Given the description of an element on the screen output the (x, y) to click on. 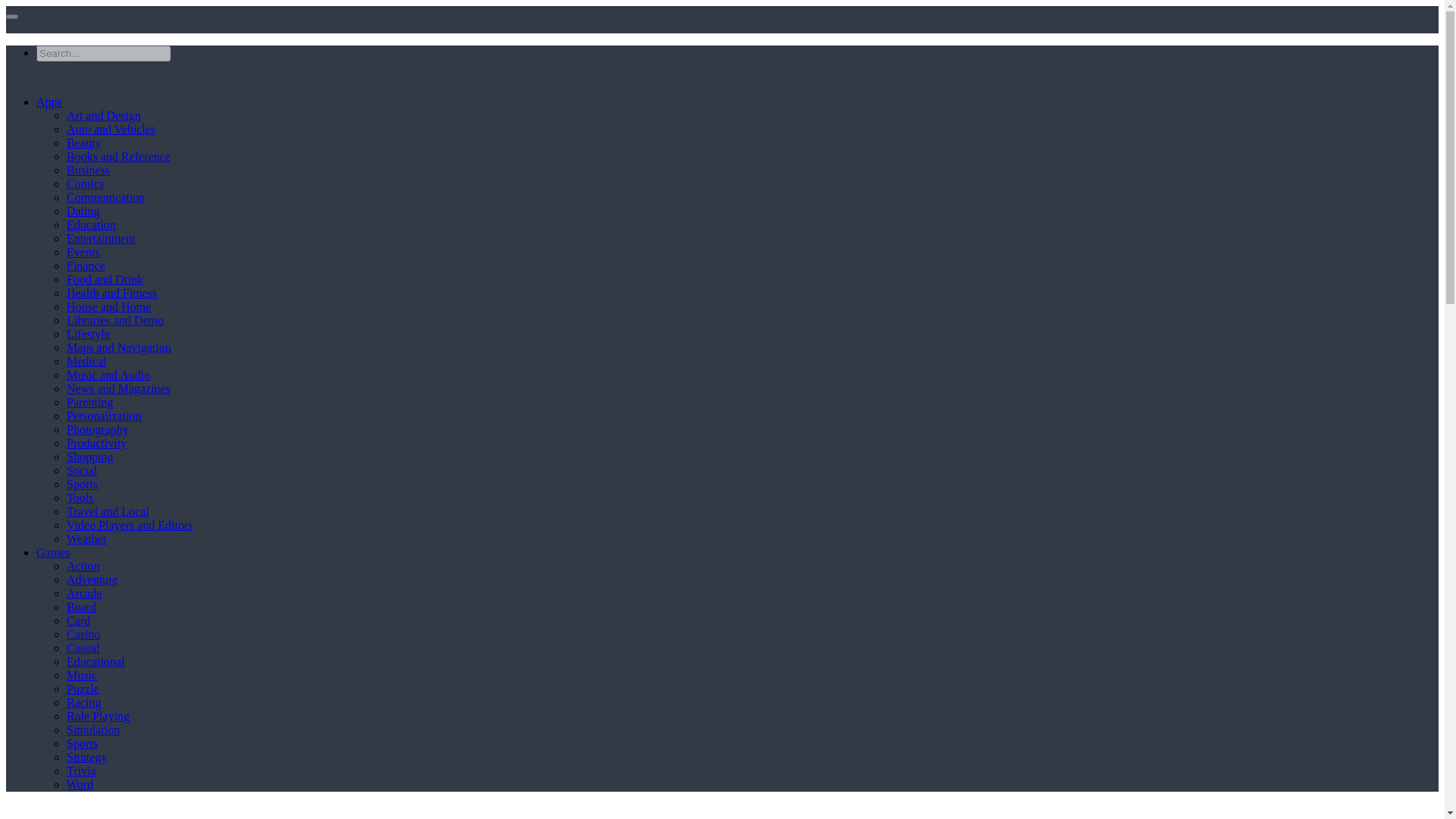
Video Players and Editors (129, 524)
Photography (97, 429)
Sports (81, 483)
Beauty (83, 142)
Finance (85, 265)
Events (83, 251)
Weather (86, 538)
Education (91, 224)
Tools (79, 497)
Social (81, 470)
Apps (49, 101)
Books and Reference (118, 155)
Parenting (89, 401)
Board (81, 606)
Arcade (83, 593)
